Given the description of an element on the screen output the (x, y) to click on. 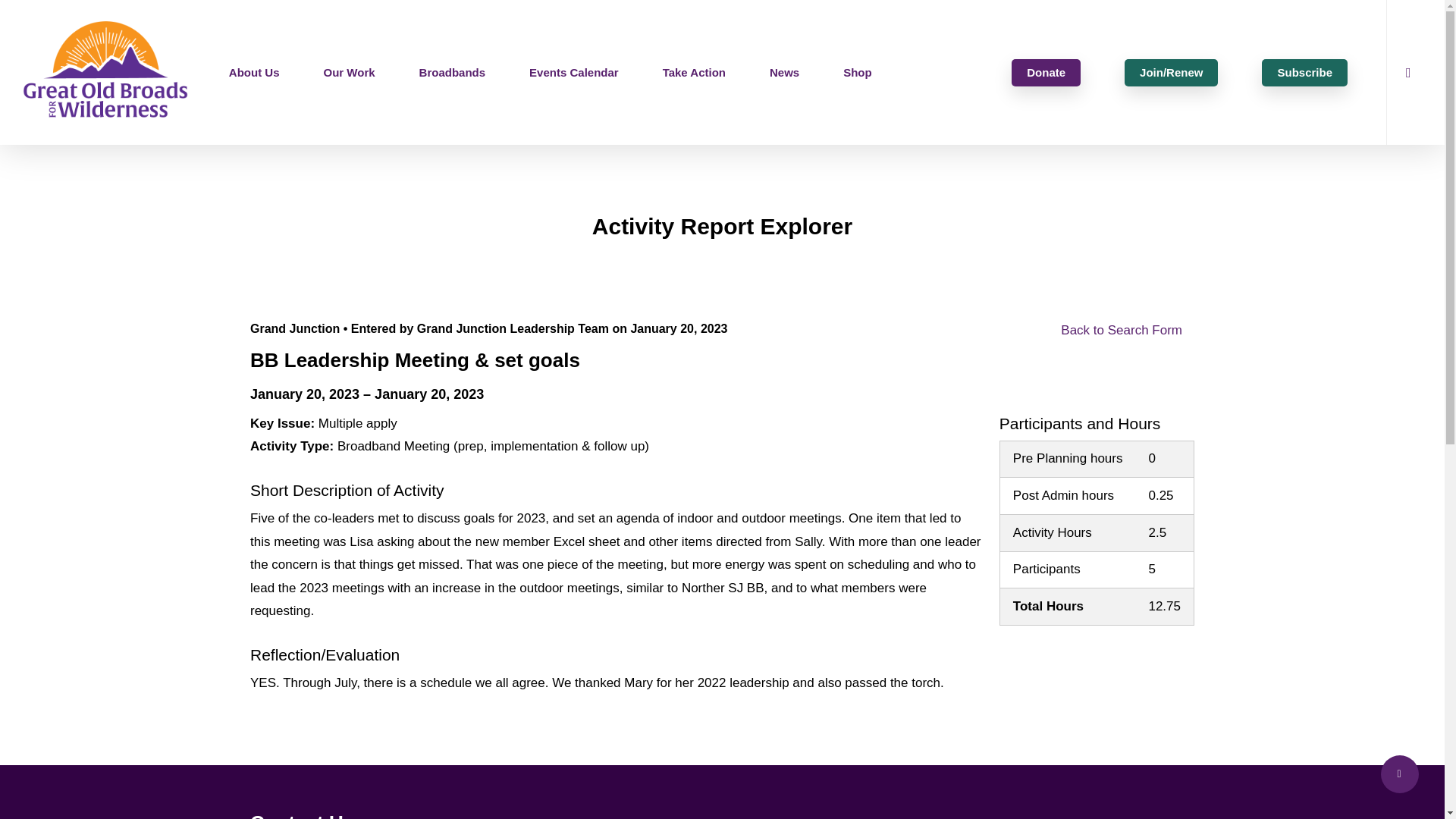
About Us (253, 72)
Donate (1045, 72)
Events Calendar (573, 72)
Shop (857, 72)
News (784, 72)
Broadbands (452, 72)
Take Action (694, 72)
Our Work (349, 72)
